Given the description of an element on the screen output the (x, y) to click on. 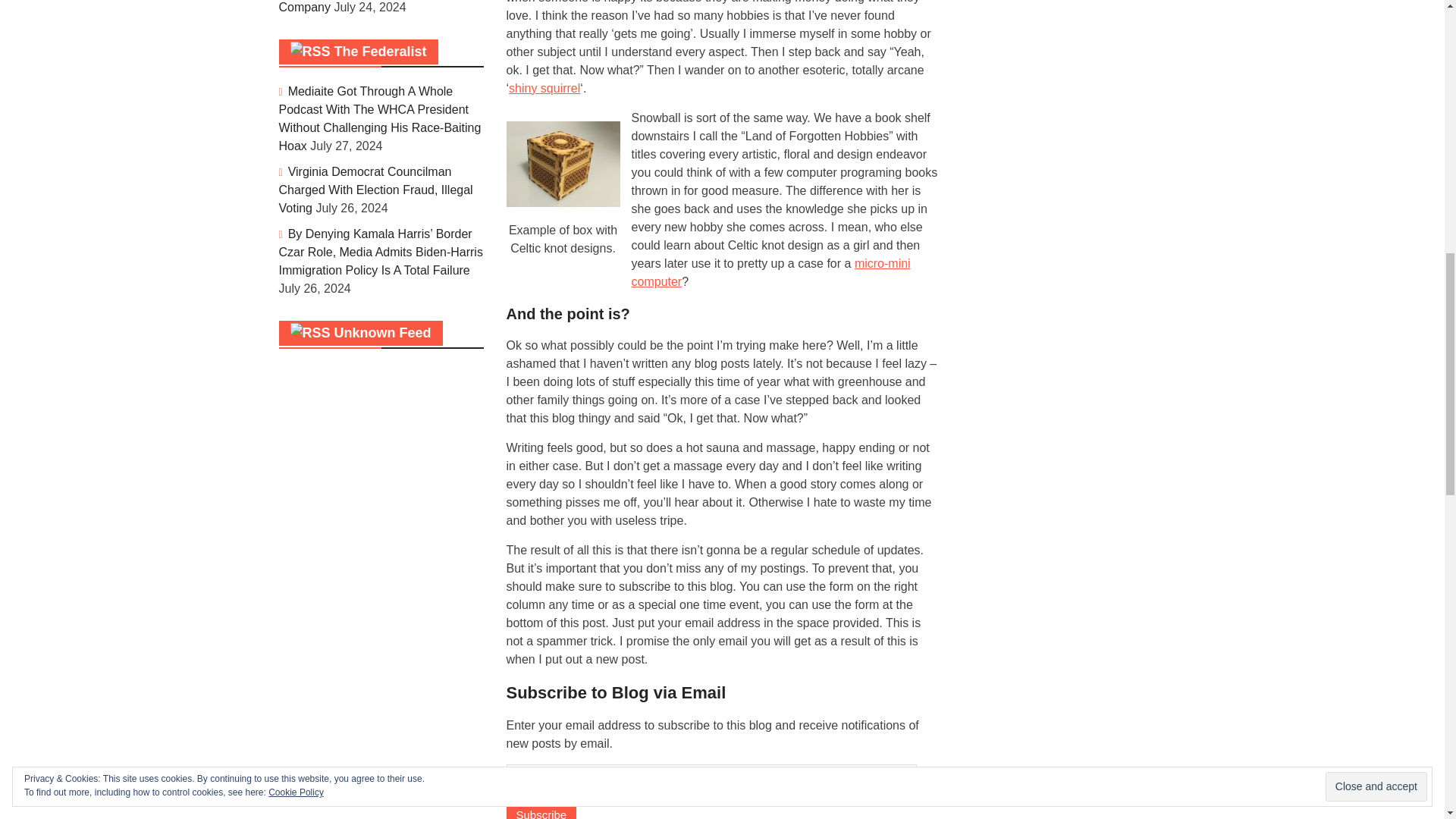
shiny squirrel (543, 88)
Subscribe (541, 810)
micro-mini computer (770, 271)
